Given the description of an element on the screen output the (x, y) to click on. 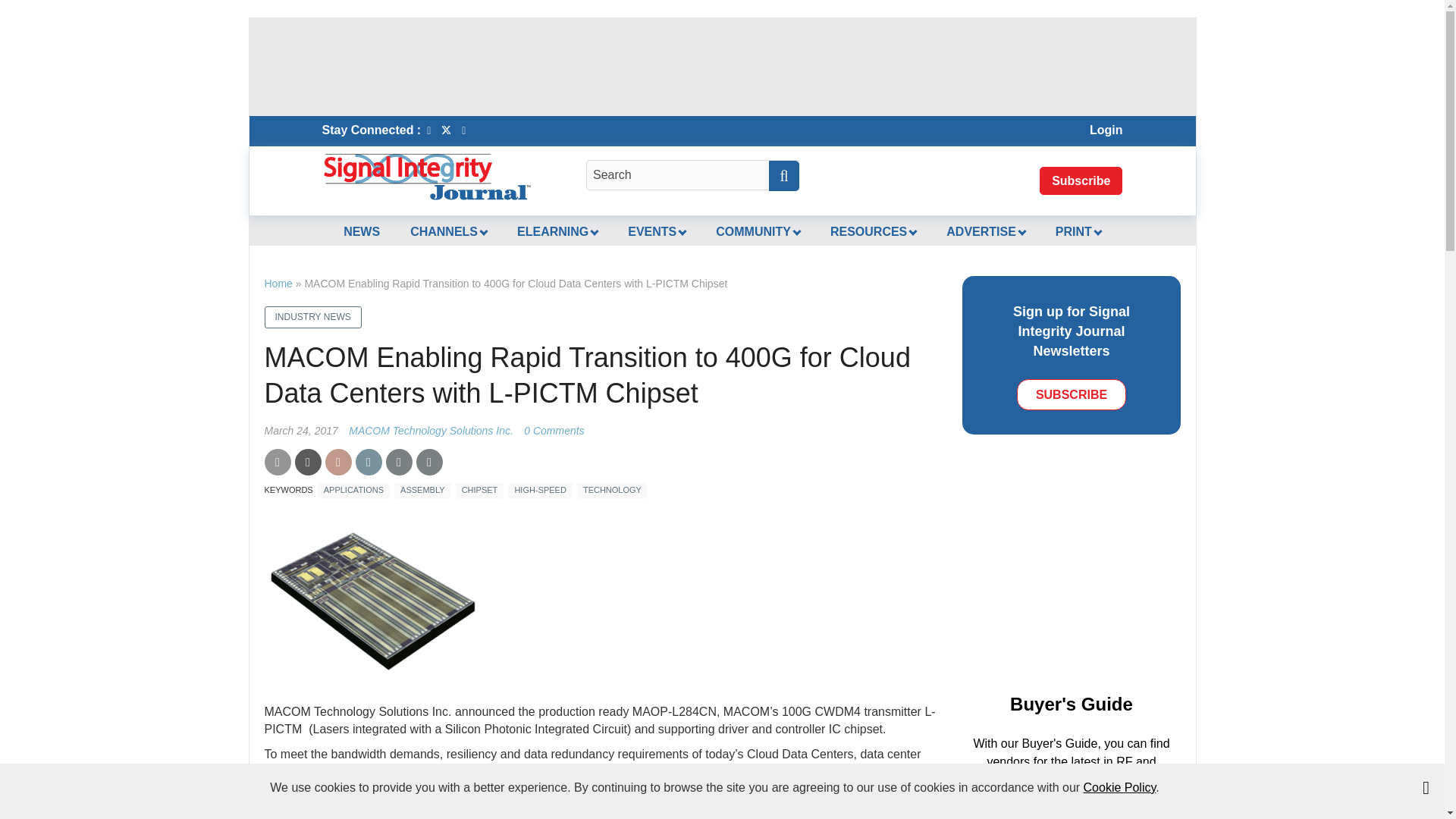
3rd party ad content (1087, 569)
3rd party ad content (721, 66)
